Given the description of an element on the screen output the (x, y) to click on. 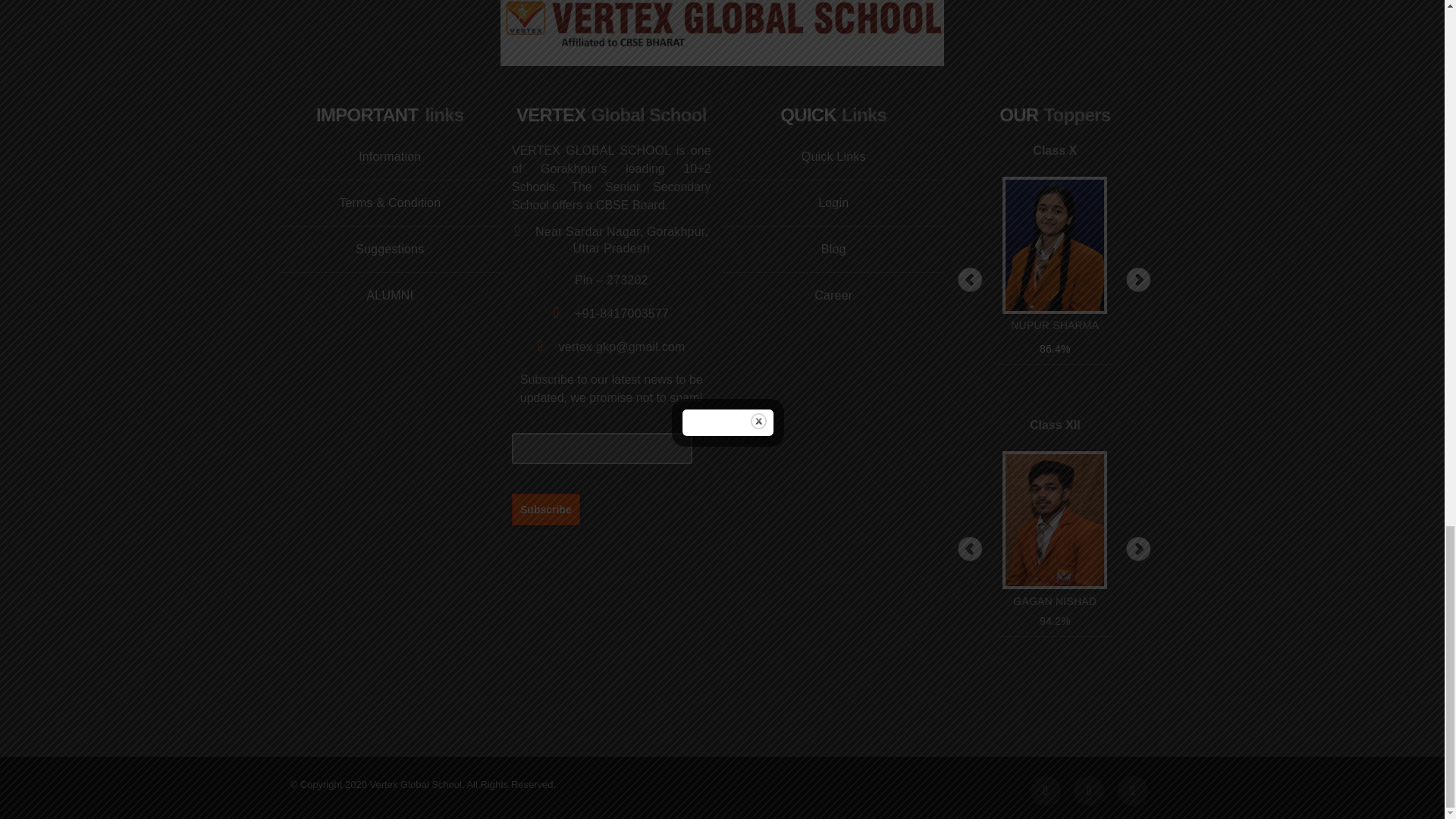
Subscribe (545, 508)
